Given the description of an element on the screen output the (x, y) to click on. 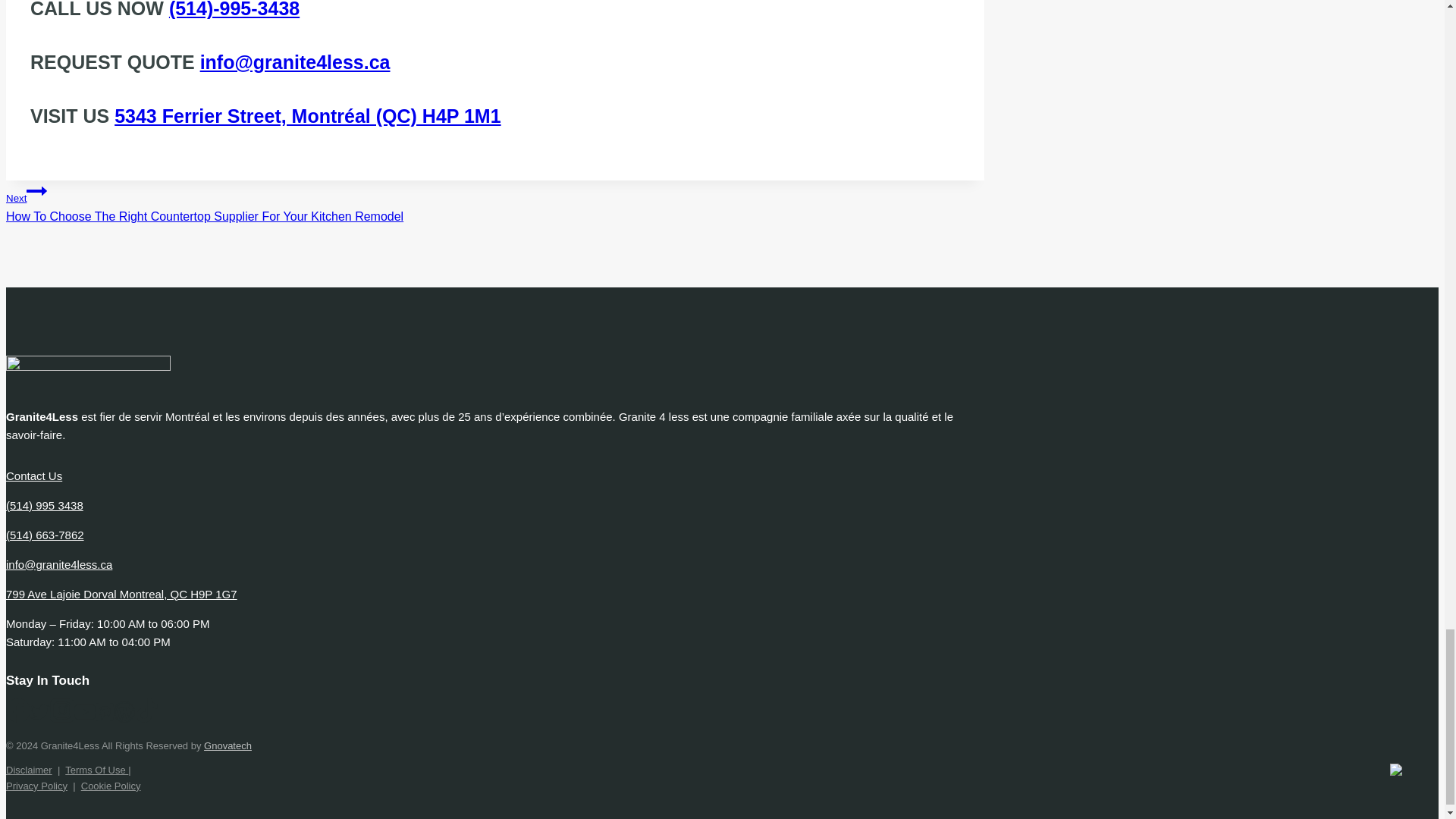
Facebook (17, 710)
WordPress (124, 711)
Continue (36, 190)
YouTube (85, 711)
Twitter (39, 711)
Instagram (61, 710)
